Given the description of an element on the screen output the (x, y) to click on. 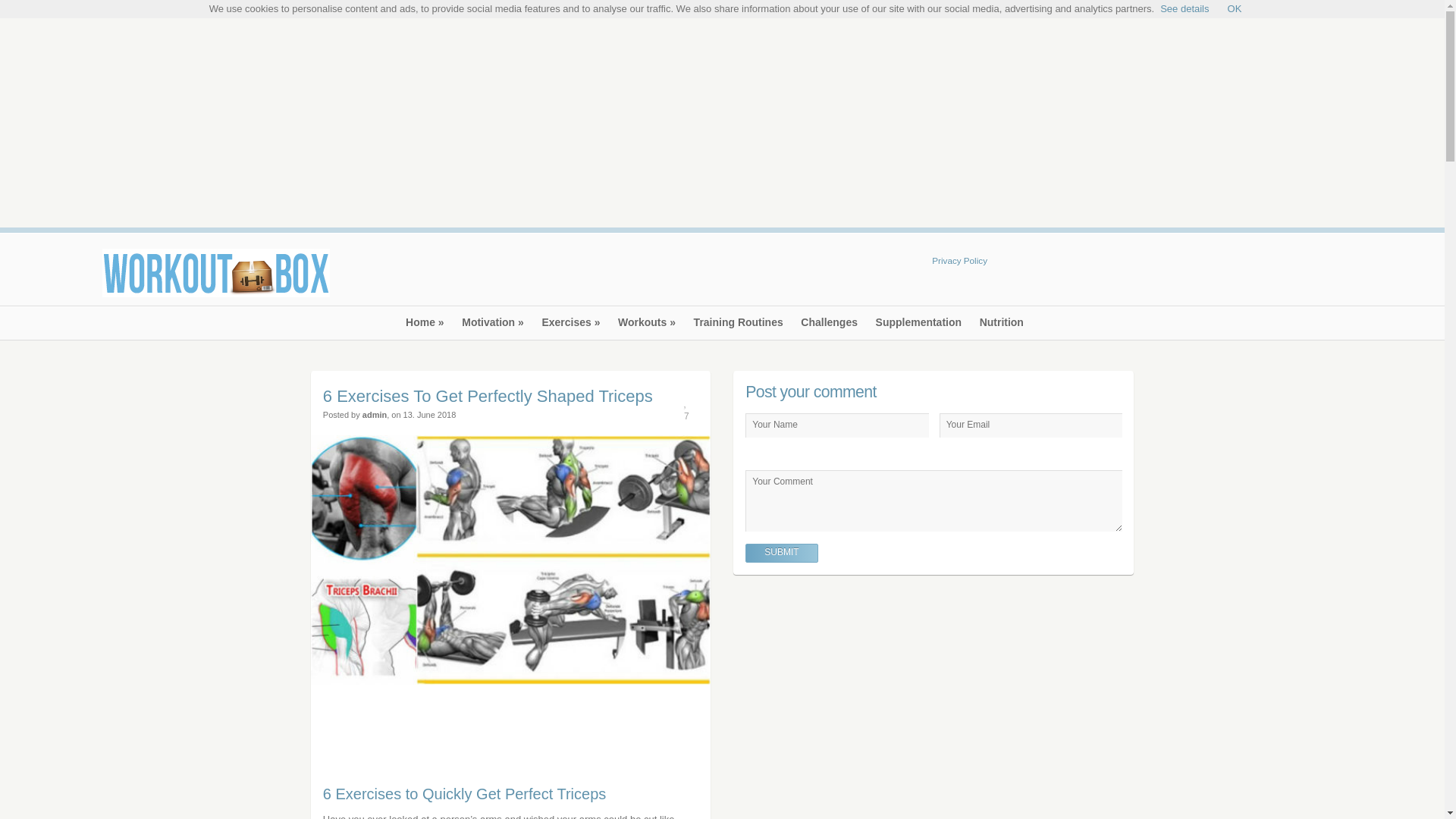
Advertisement (414, 739)
Advertisement (1164, 277)
Your Comment (933, 500)
Your Name (836, 425)
Your Email (1030, 425)
